Given the description of an element on the screen output the (x, y) to click on. 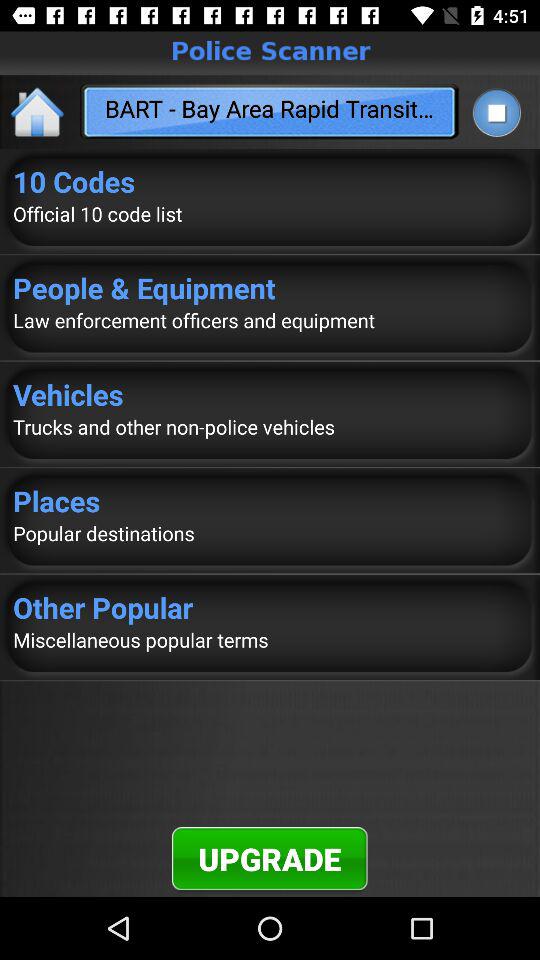
stop scanner (496, 111)
